Given the description of an element on the screen output the (x, y) to click on. 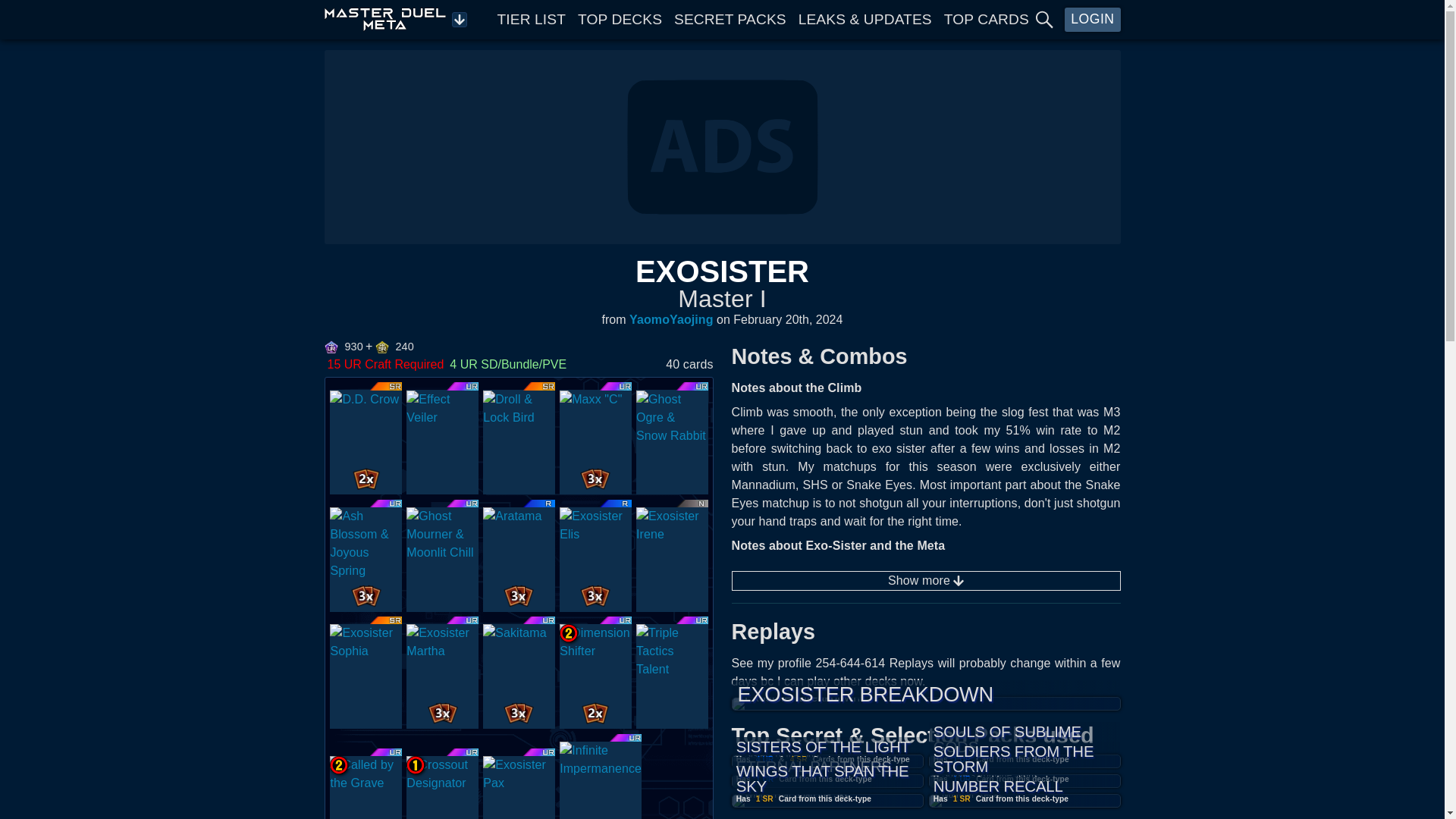
TOP CARDS (986, 18)
TOP DECKS (620, 18)
SECRET PACKS (730, 18)
TIER LIST (532, 18)
YaomoYaojing (670, 320)
